Given the description of an element on the screen output the (x, y) to click on. 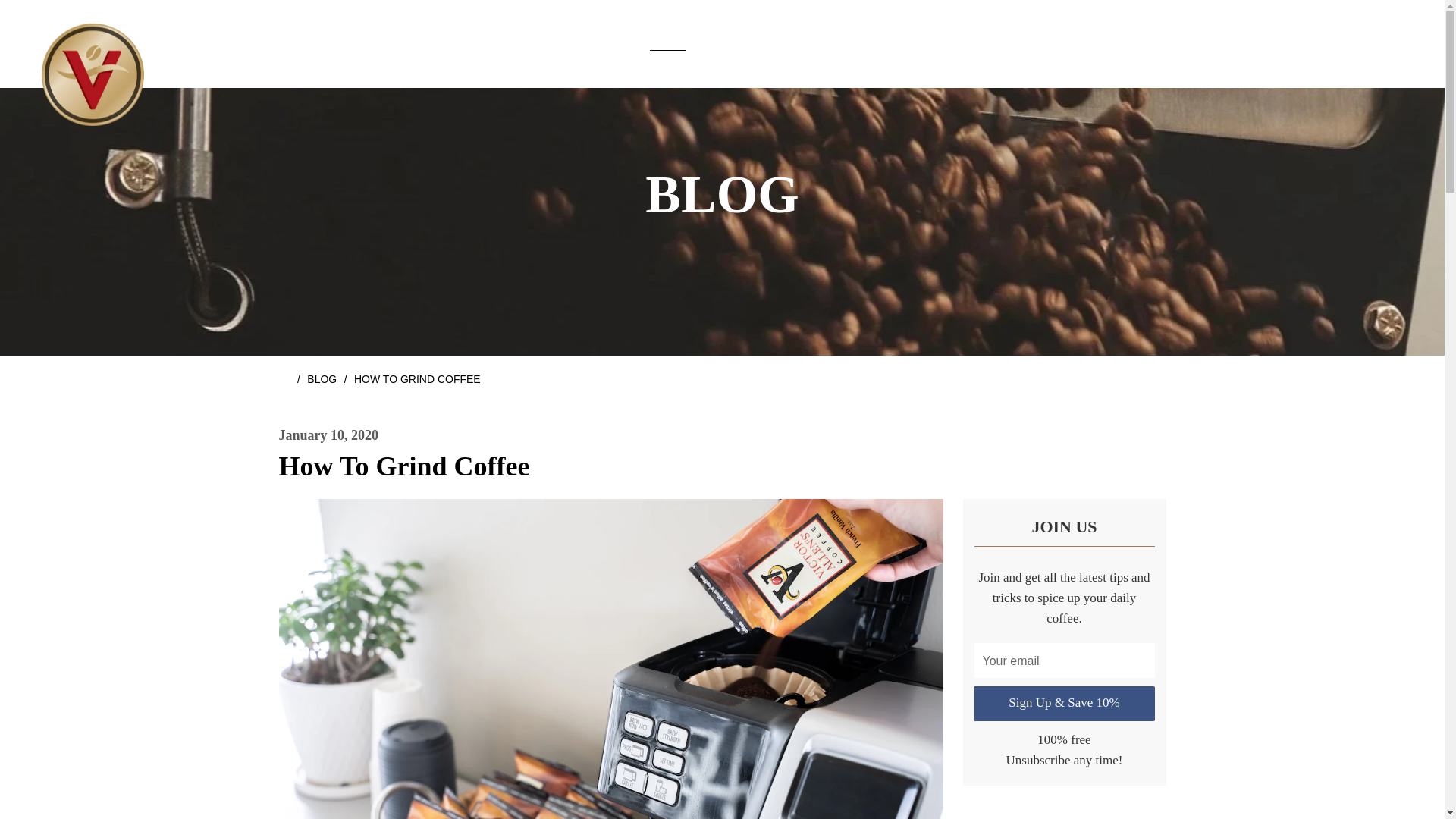
OUR COFFEE (1378, 47)
OUR STORY (517, 43)
Blog (416, 43)
SHOP AMAZON (321, 378)
search icon (826, 43)
WHERE TO BUY (1377, 46)
